Given the description of an element on the screen output the (x, y) to click on. 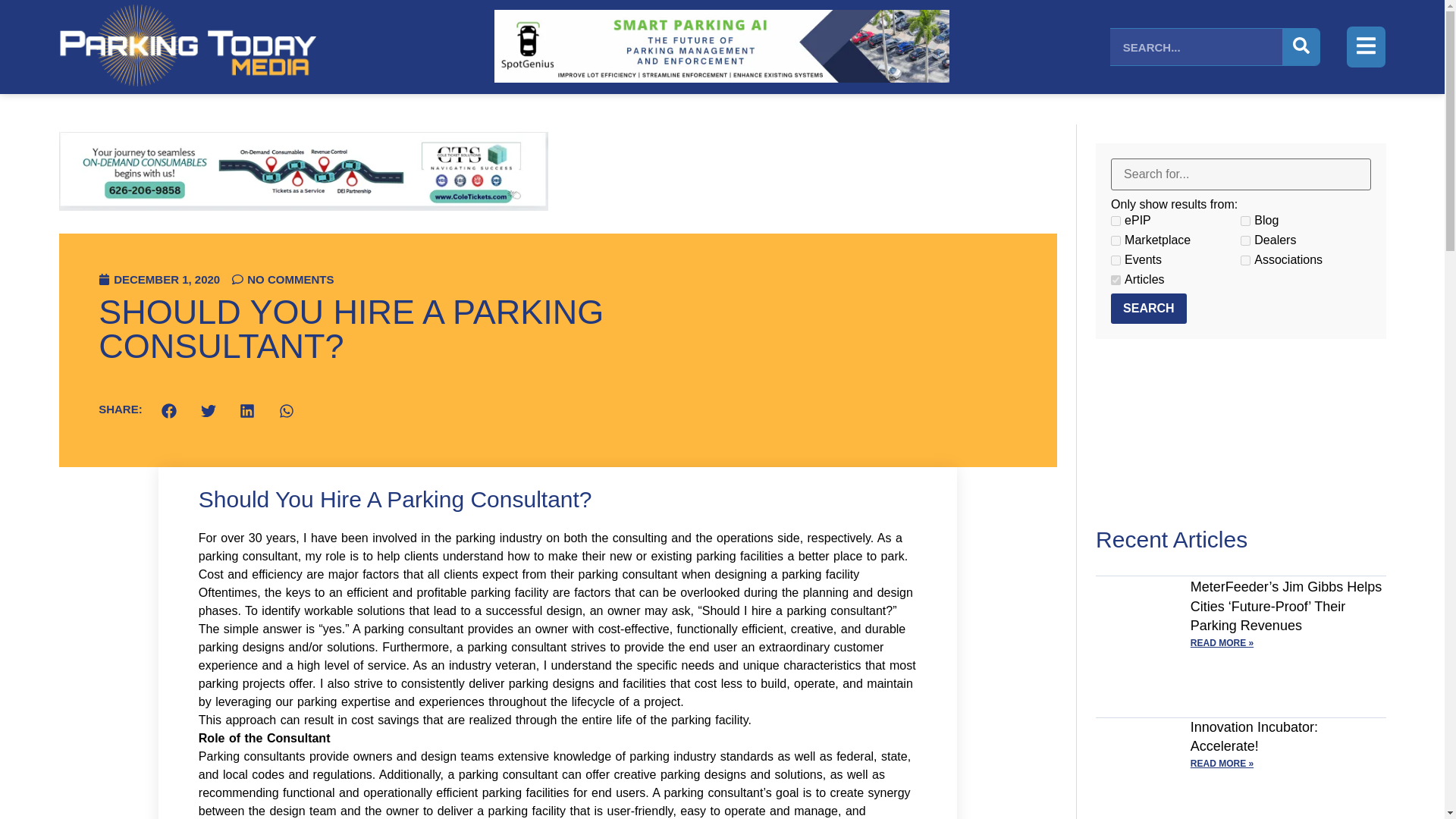
Search (1148, 308)
Associations (1245, 260)
Innovation Incubator: Accelerate! (1254, 736)
ePIP (1115, 221)
Search (1148, 308)
NO COMMENTS (282, 279)
Blog (1245, 221)
Events (1115, 260)
Articles (1115, 280)
Marketplace (1115, 240)
